Given the description of an element on the screen output the (x, y) to click on. 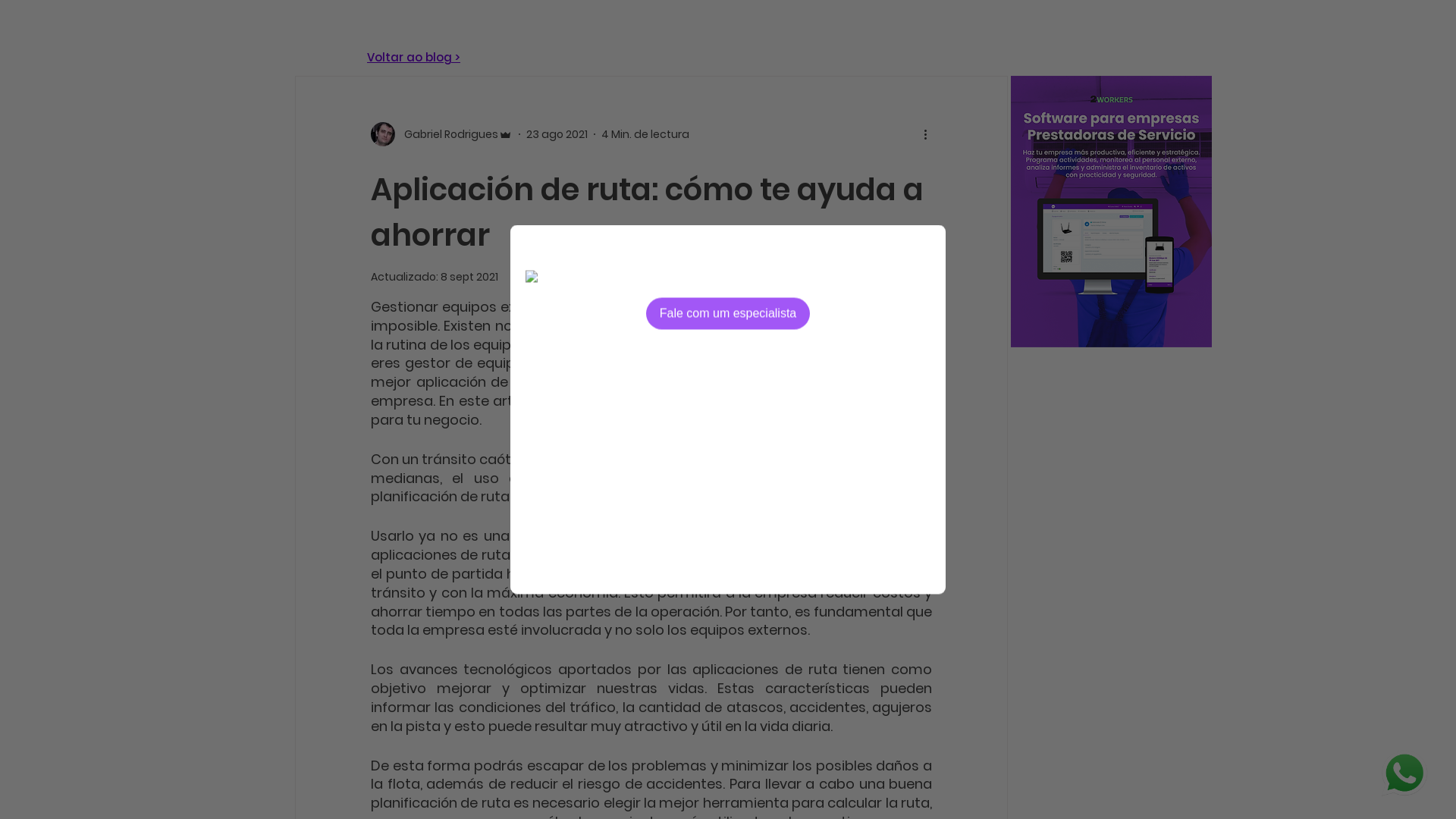
Voltar ao blog > Element type: text (413, 56)
